Given the description of an element on the screen output the (x, y) to click on. 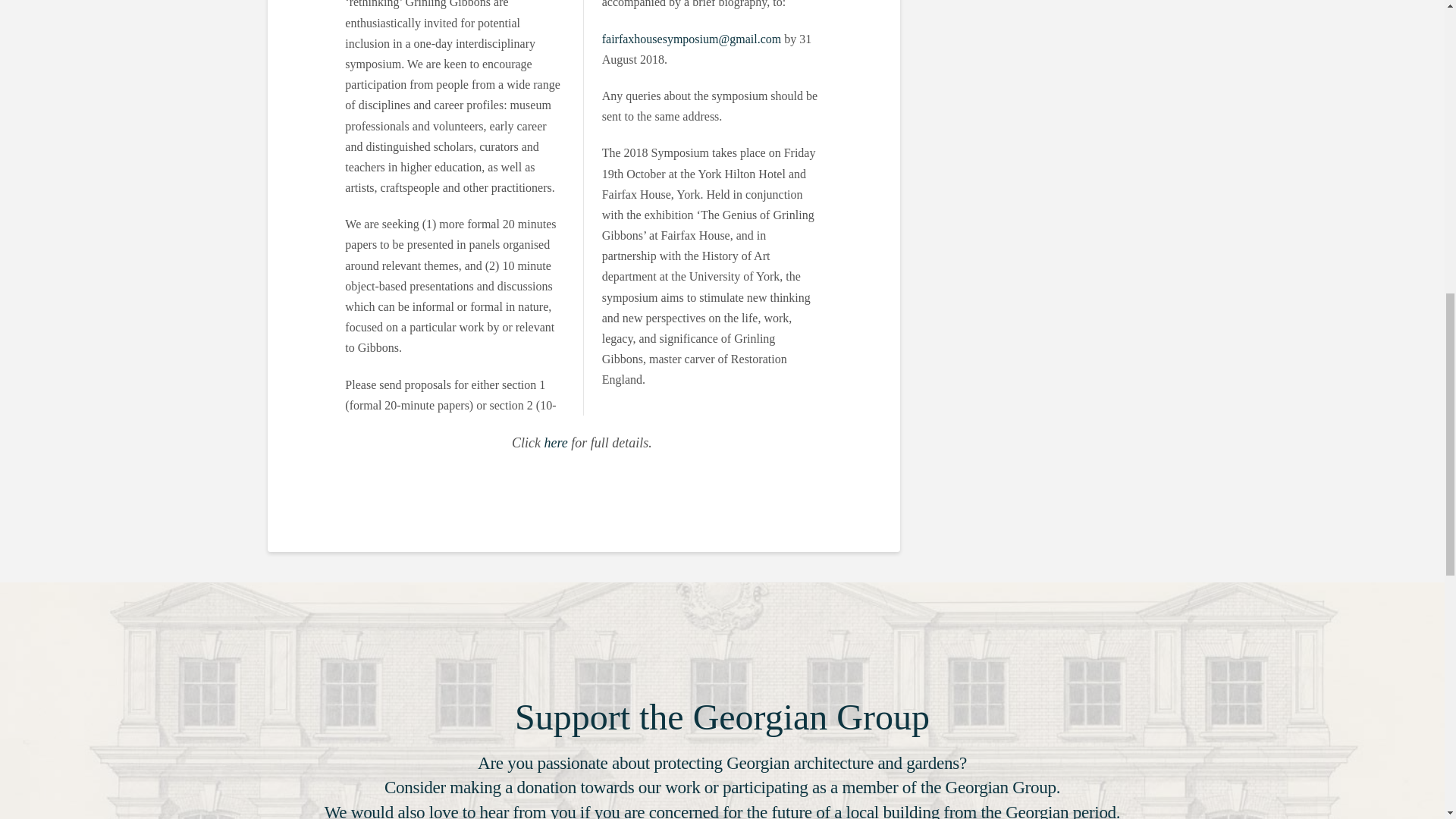
here (555, 442)
